Given the description of an element on the screen output the (x, y) to click on. 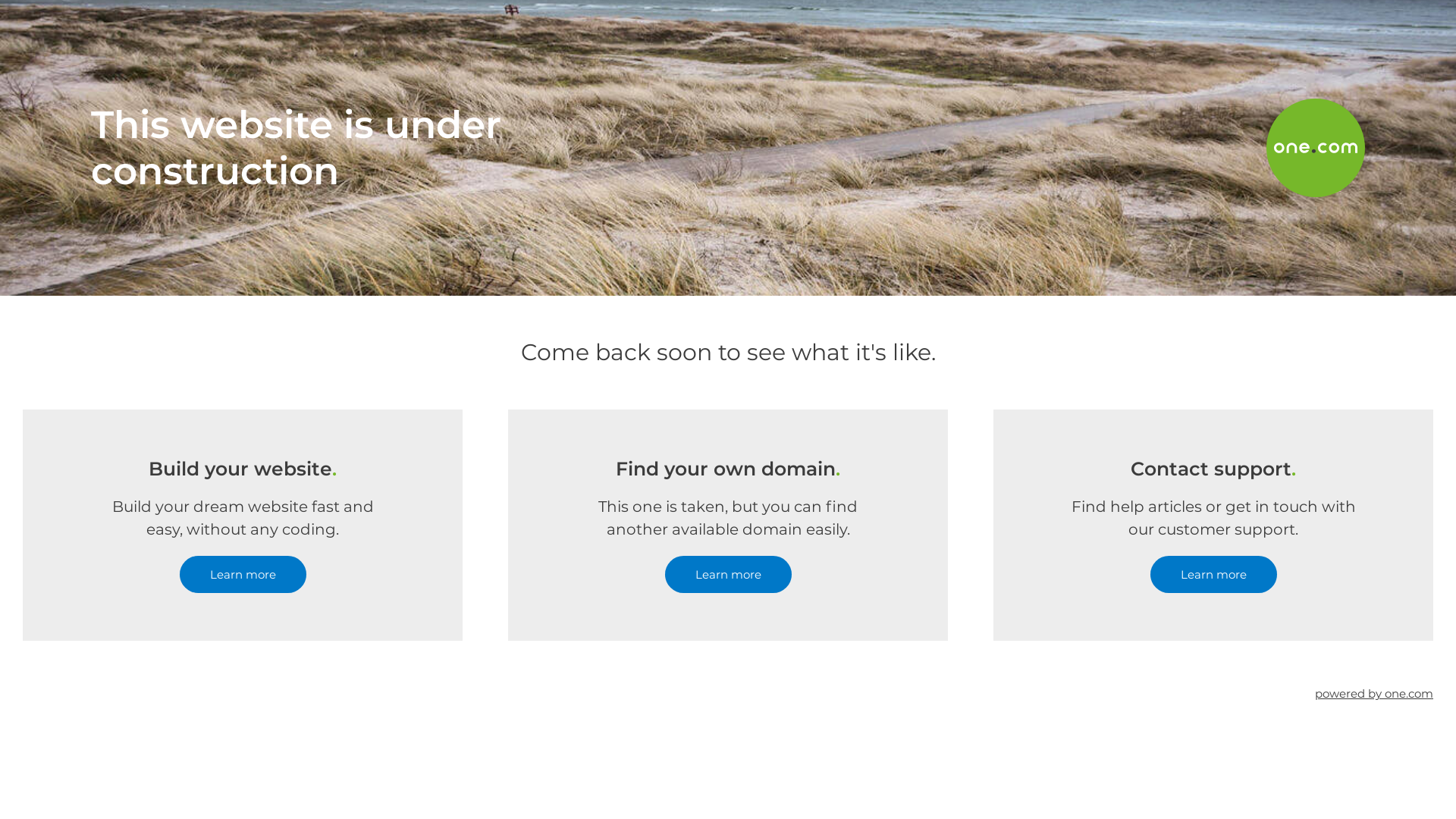
Learn more Element type: text (1212, 574)
Learn more Element type: text (727, 574)
Learn more Element type: text (241, 574)
powered by one.com Element type: text (1373, 693)
